Given the description of an element on the screen output the (x, y) to click on. 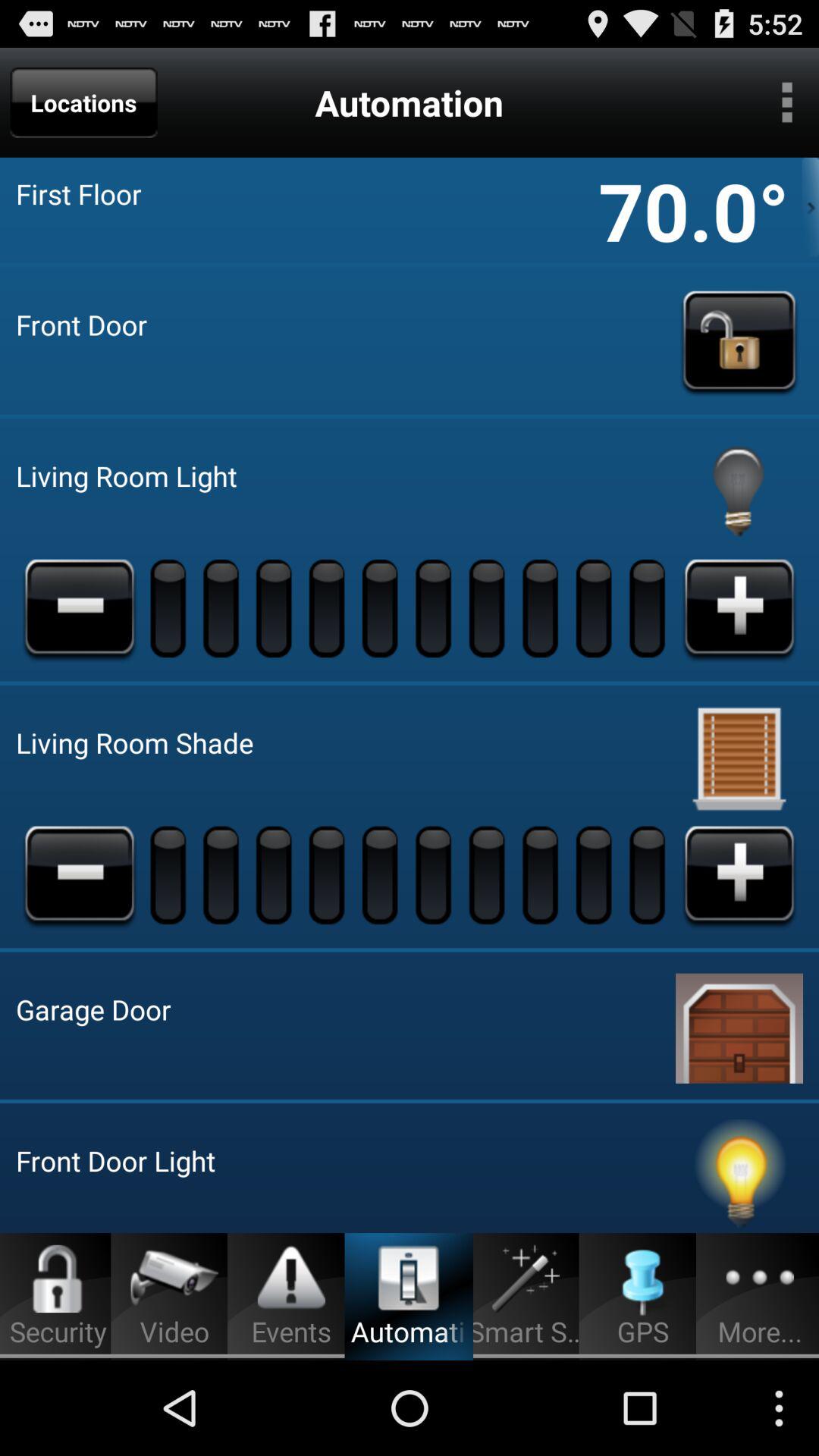
lock front door (739, 340)
